Given the description of an element on the screen output the (x, y) to click on. 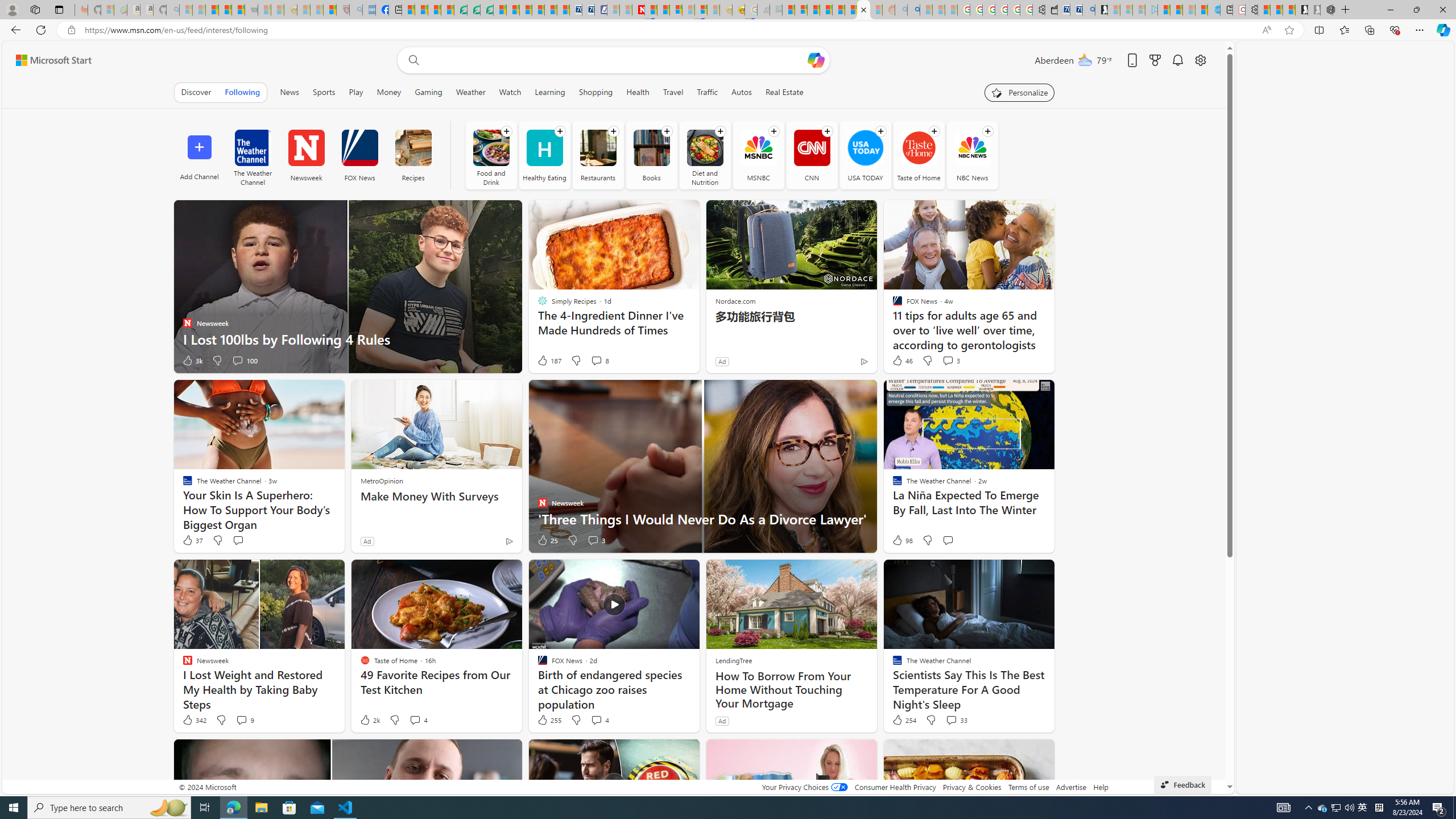
Traffic (707, 92)
Newsweek (306, 147)
View comments 33 Comment (950, 719)
Utah sues federal government - Search (913, 9)
Hide this story (1019, 752)
FOX News (359, 155)
Restaurants (598, 155)
